Given the description of an element on the screen output the (x, y) to click on. 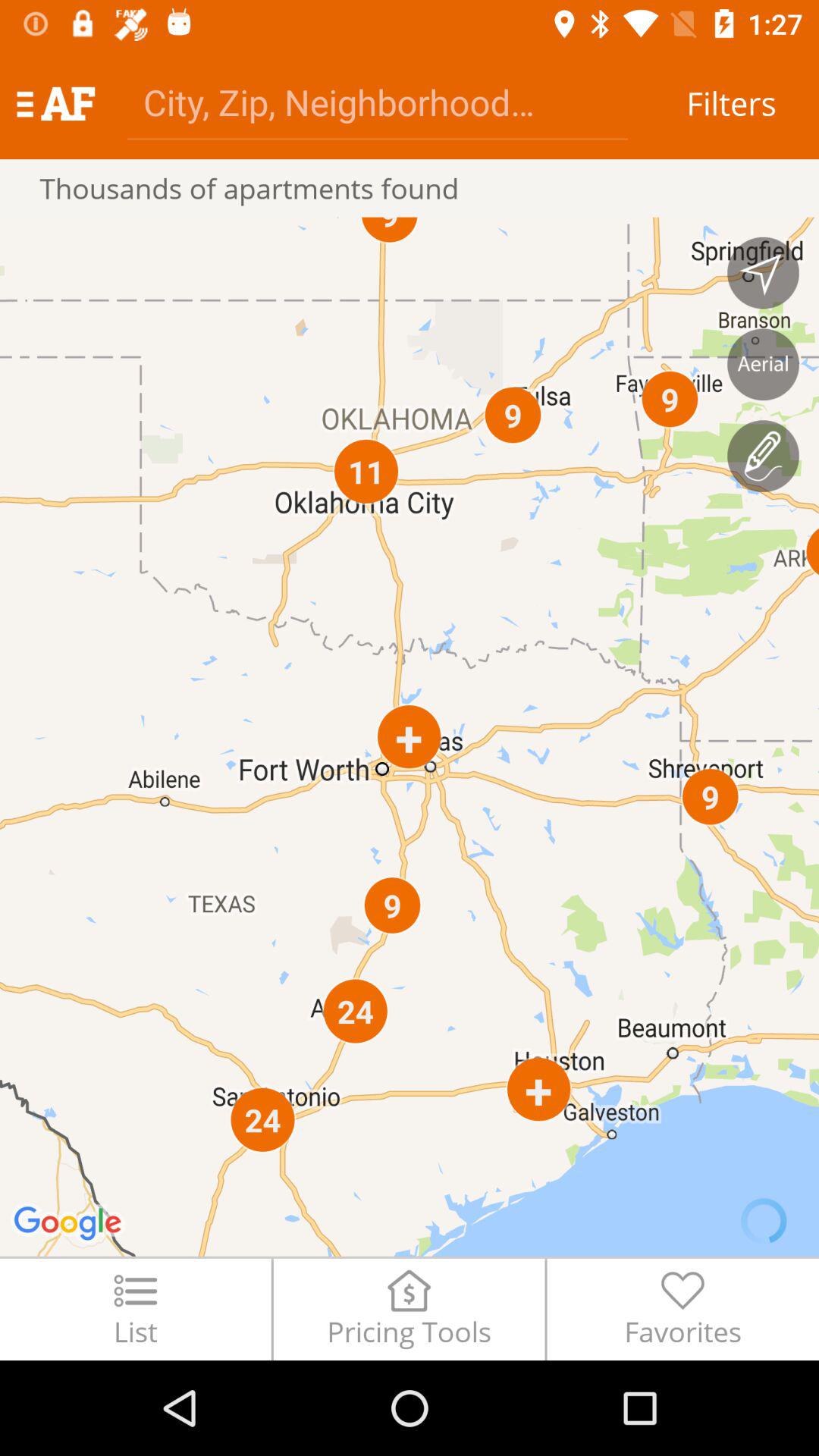
scroll to the favorites (683, 1309)
